Given the description of an element on the screen output the (x, y) to click on. 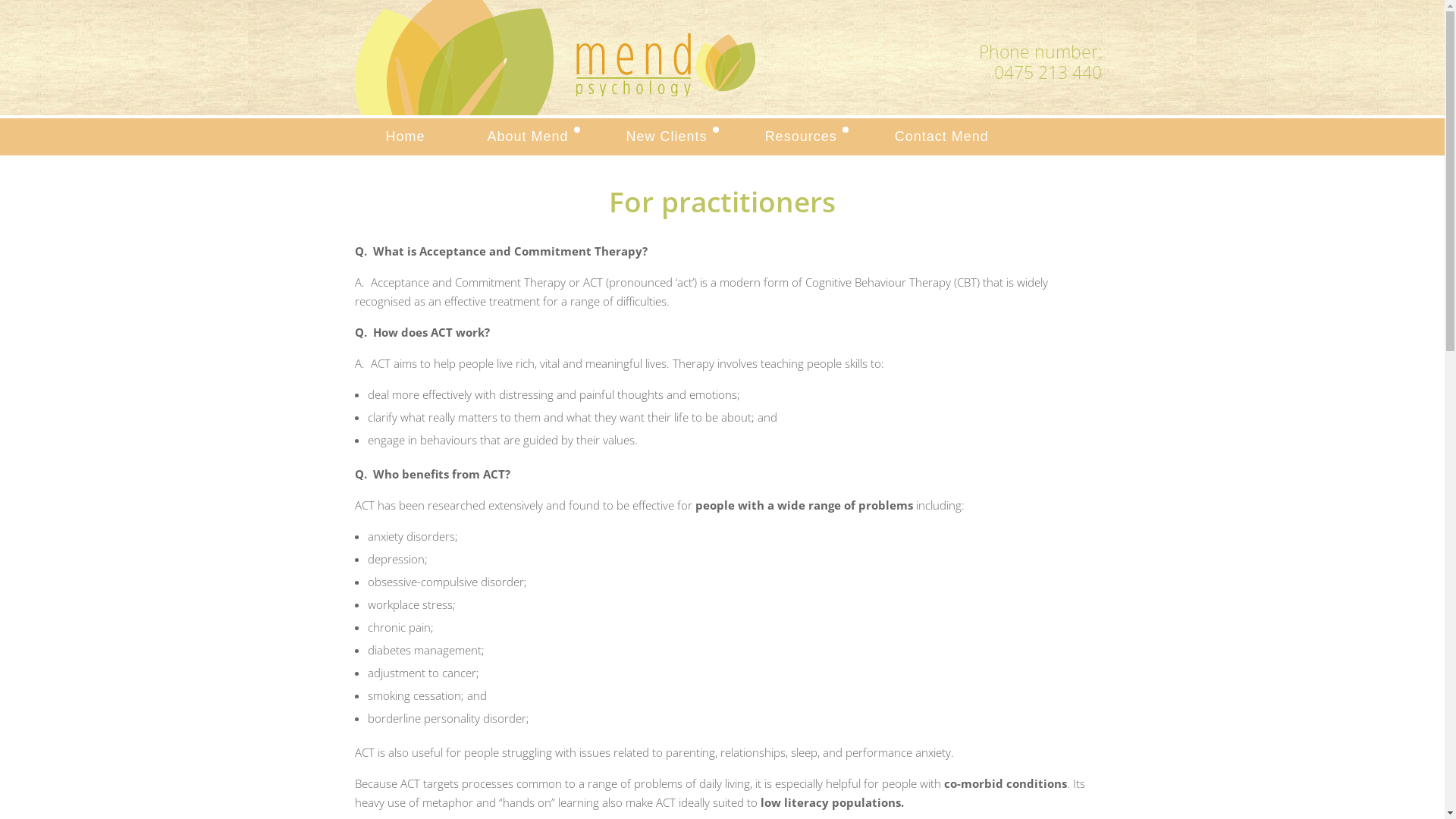
New Clients Element type: text (664, 136)
Contact Mend Element type: text (941, 136)
About Mend Element type: text (525, 136)
Resources Element type: text (798, 136)
Home Element type: text (405, 136)
